Given the description of an element on the screen output the (x, y) to click on. 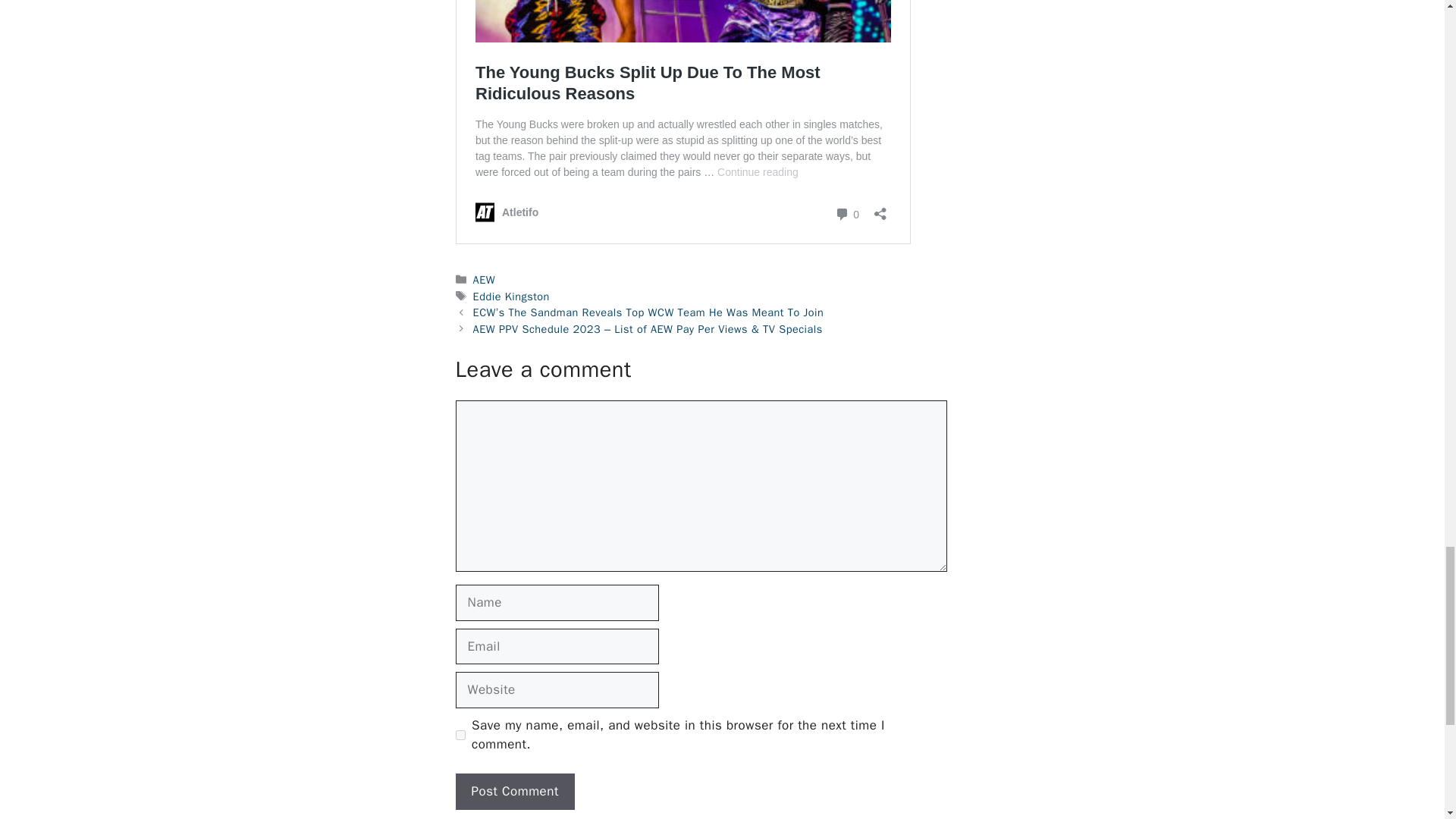
Post Comment (513, 791)
Post Comment (513, 791)
Eddie Kingston (511, 296)
AEW (484, 279)
yes (459, 735)
